Given the description of an element on the screen output the (x, y) to click on. 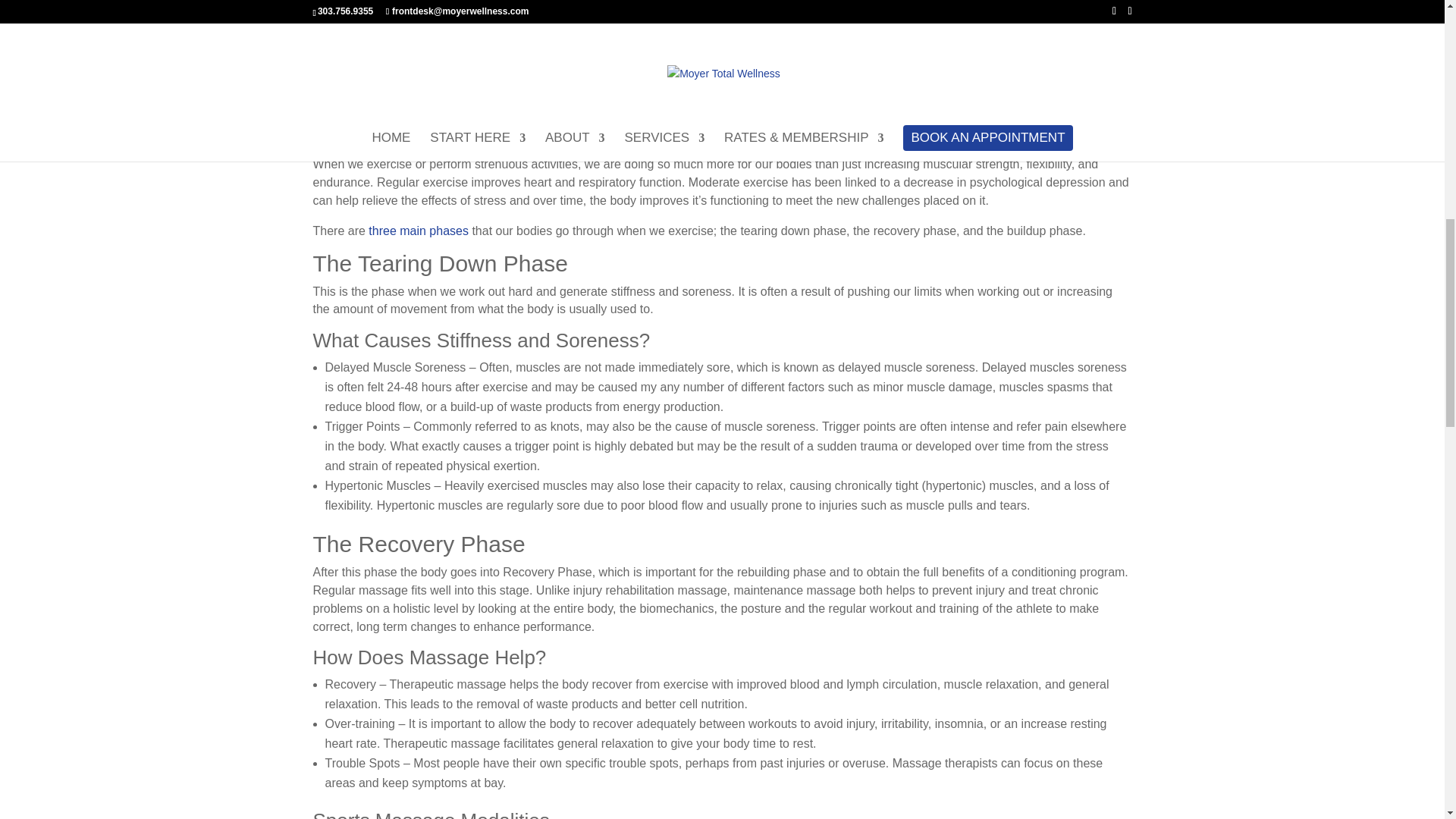
three main phases (418, 230)
